Given the description of an element on the screen output the (x, y) to click on. 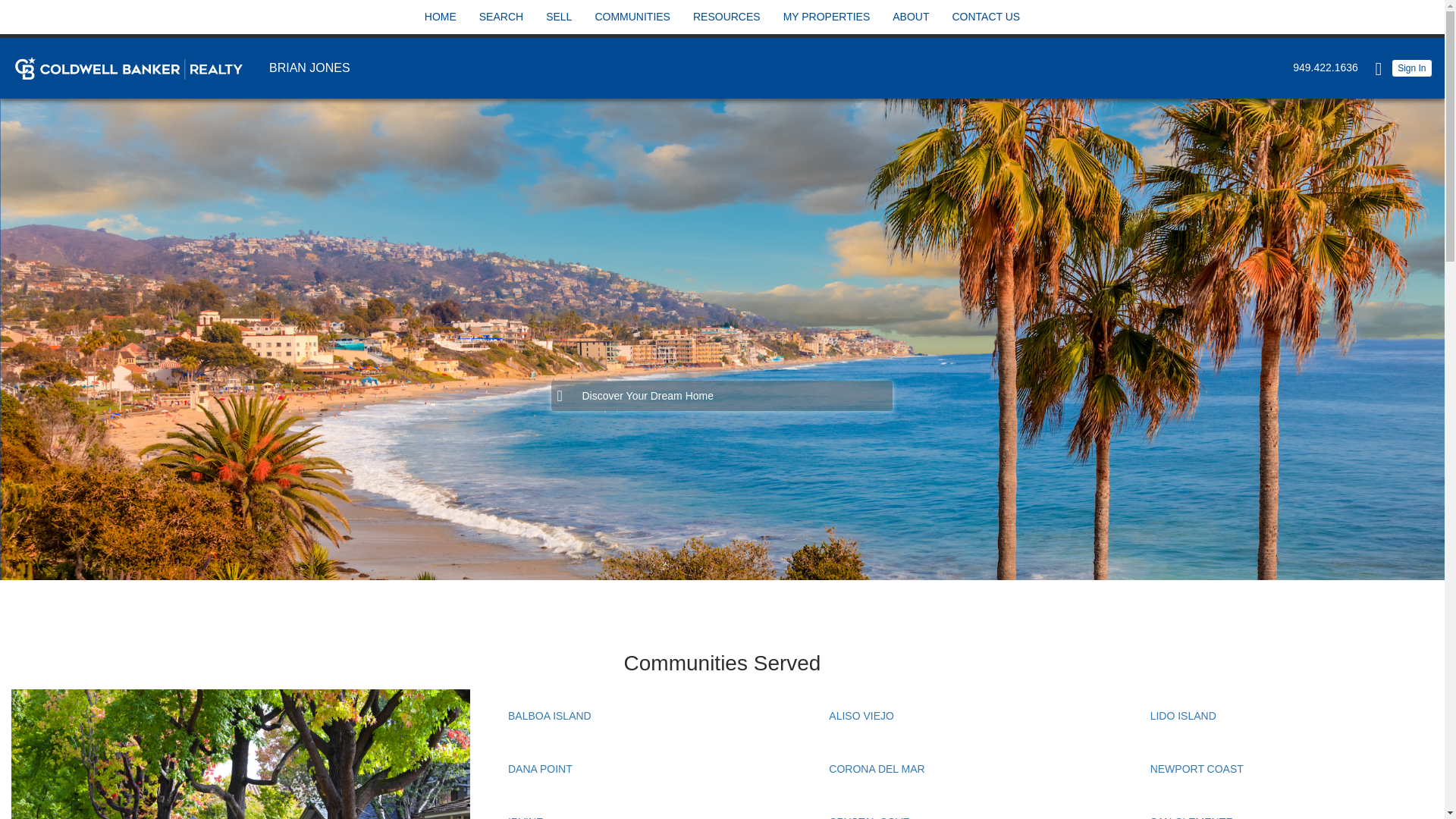
COMMUNITIES (632, 17)
ALISO VIEJO (860, 715)
SEARCH (501, 17)
CONTACT US (985, 17)
HOME (440, 17)
Sign In (1411, 67)
RESOURCES (726, 17)
SAN CLEMENTE (1191, 817)
949.422.1636 (1321, 67)
LIDO ISLAND (1182, 715)
BALBOA ISLAND (549, 715)
DANA POINT (540, 768)
CORONA DEL MAR (876, 768)
ABOUT (910, 17)
IRVINE (525, 817)
